Given the description of an element on the screen output the (x, y) to click on. 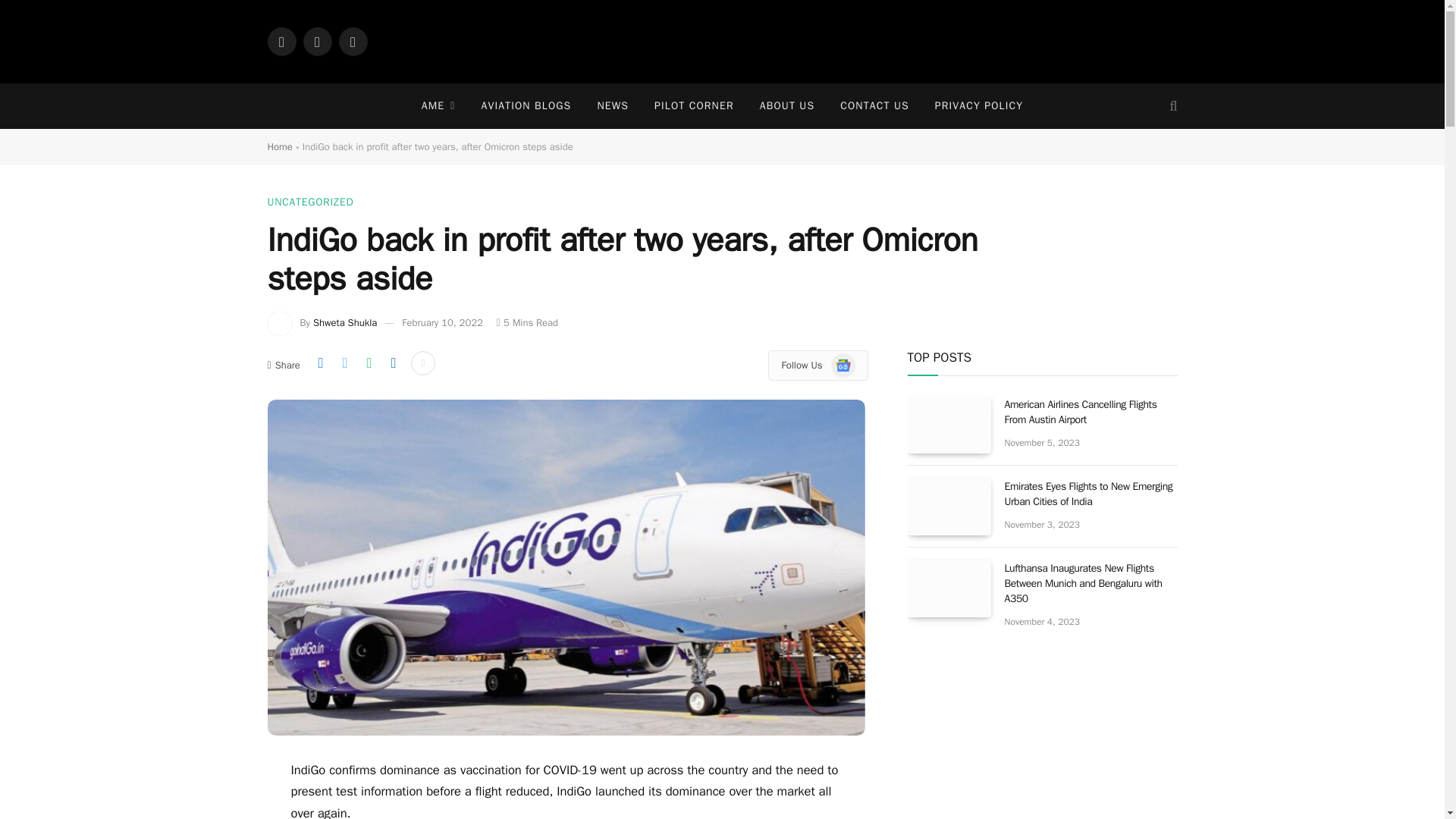
ABOUT US (786, 105)
UNCATEGORIZED (309, 201)
AME (438, 105)
NEWS (612, 105)
Share on LinkedIn (392, 363)
Posts by Shweta Shukla (345, 322)
Google News (843, 364)
AVIATION BLOGS (525, 105)
Share on WhatsApp (369, 363)
PILOT CORNER (694, 105)
